Given the description of an element on the screen output the (x, y) to click on. 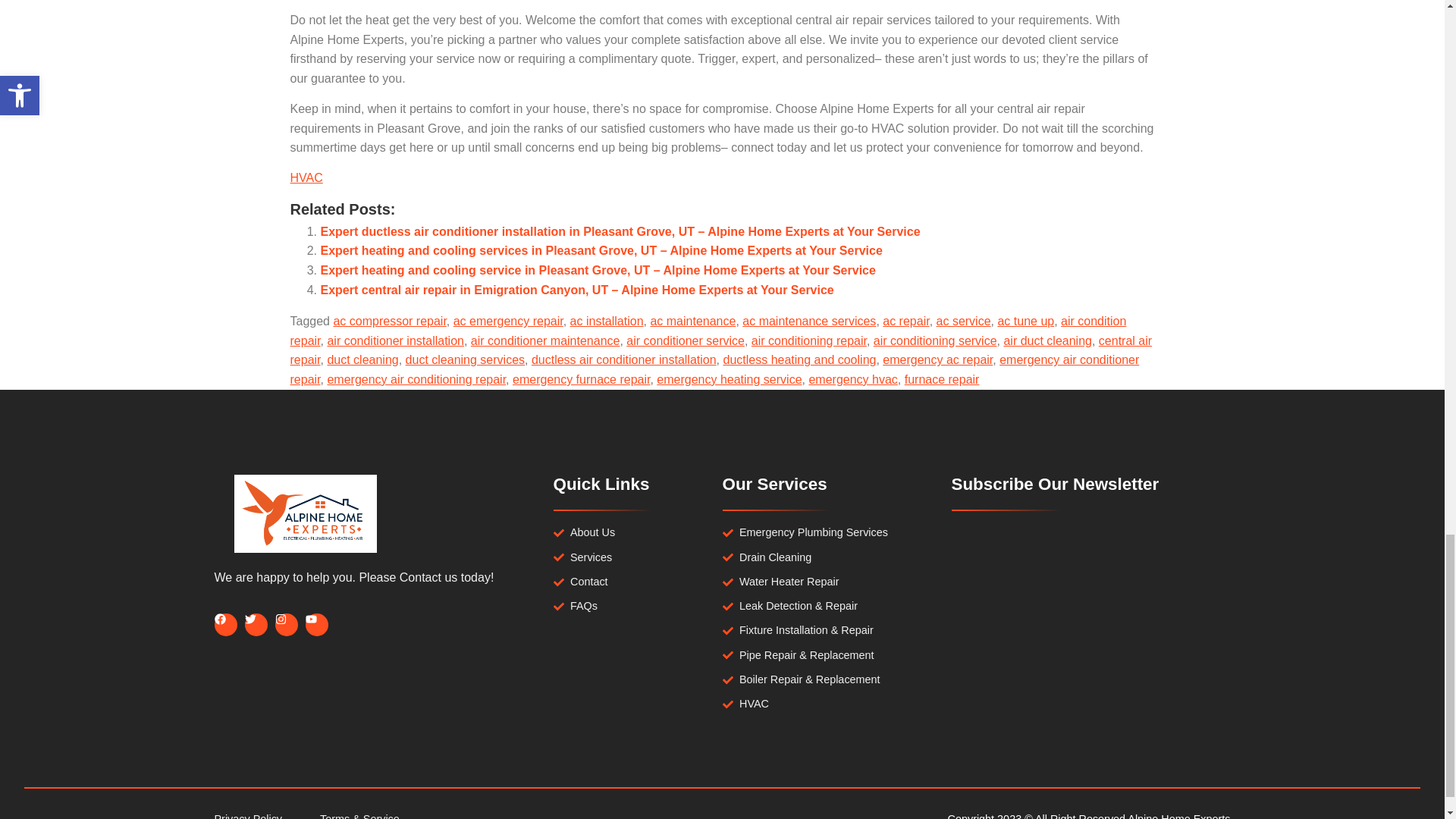
ac maintenance (692, 320)
ac installation (606, 320)
ac emergency repair (507, 320)
HVAC (305, 177)
ac compressor repair (389, 320)
